Given the description of an element on the screen output the (x, y) to click on. 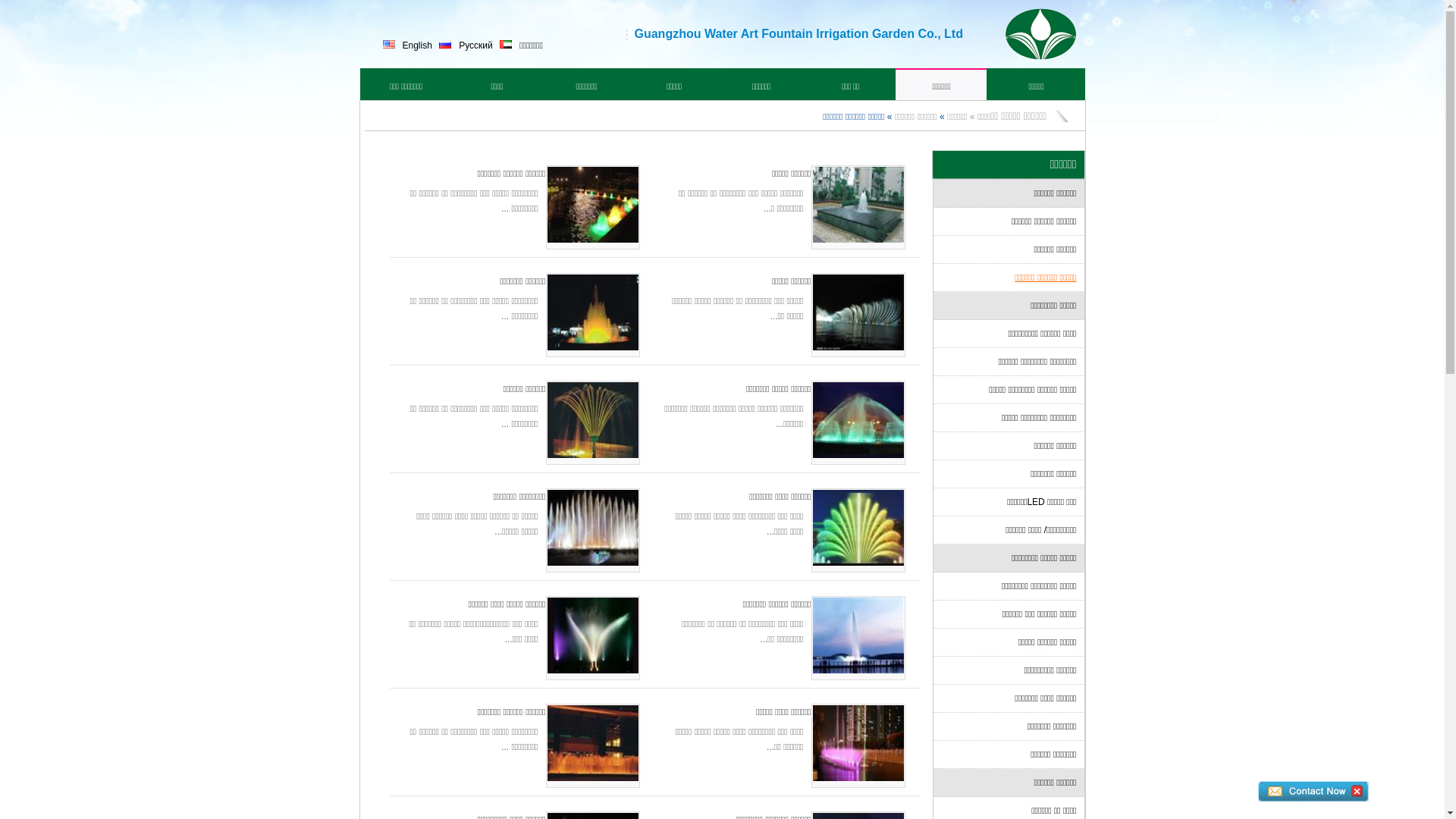
English Element type: text (416, 45)
